Given the description of an element on the screen output the (x, y) to click on. 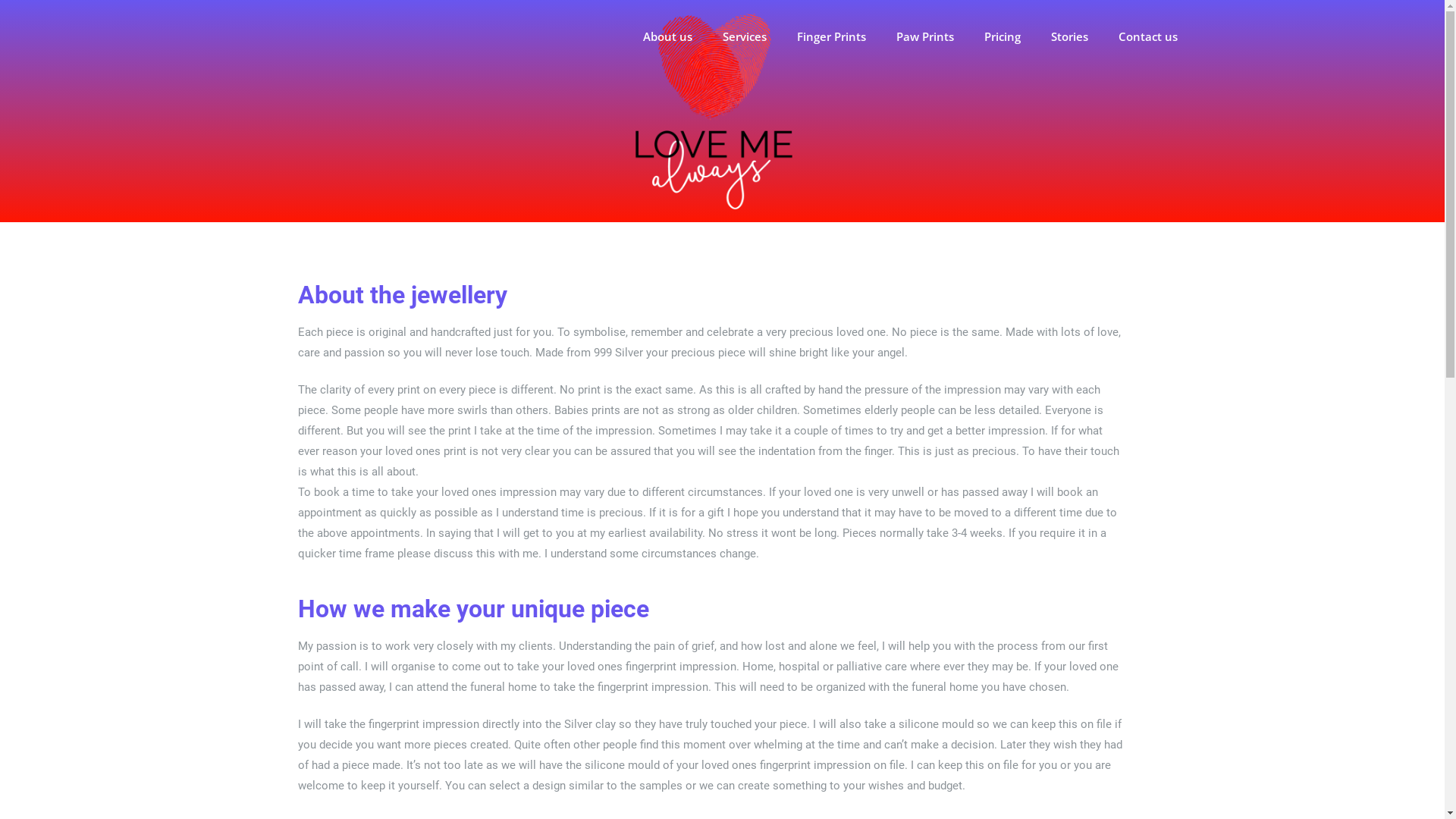
Finger Prints Element type: text (830, 36)
Services Element type: text (743, 36)
About us Element type: text (667, 36)
Contact us Element type: text (1147, 36)
Stories Element type: text (1069, 36)
Paw Prints Element type: text (925, 36)
Pricing Element type: text (1002, 36)
